Given the description of an element on the screen output the (x, y) to click on. 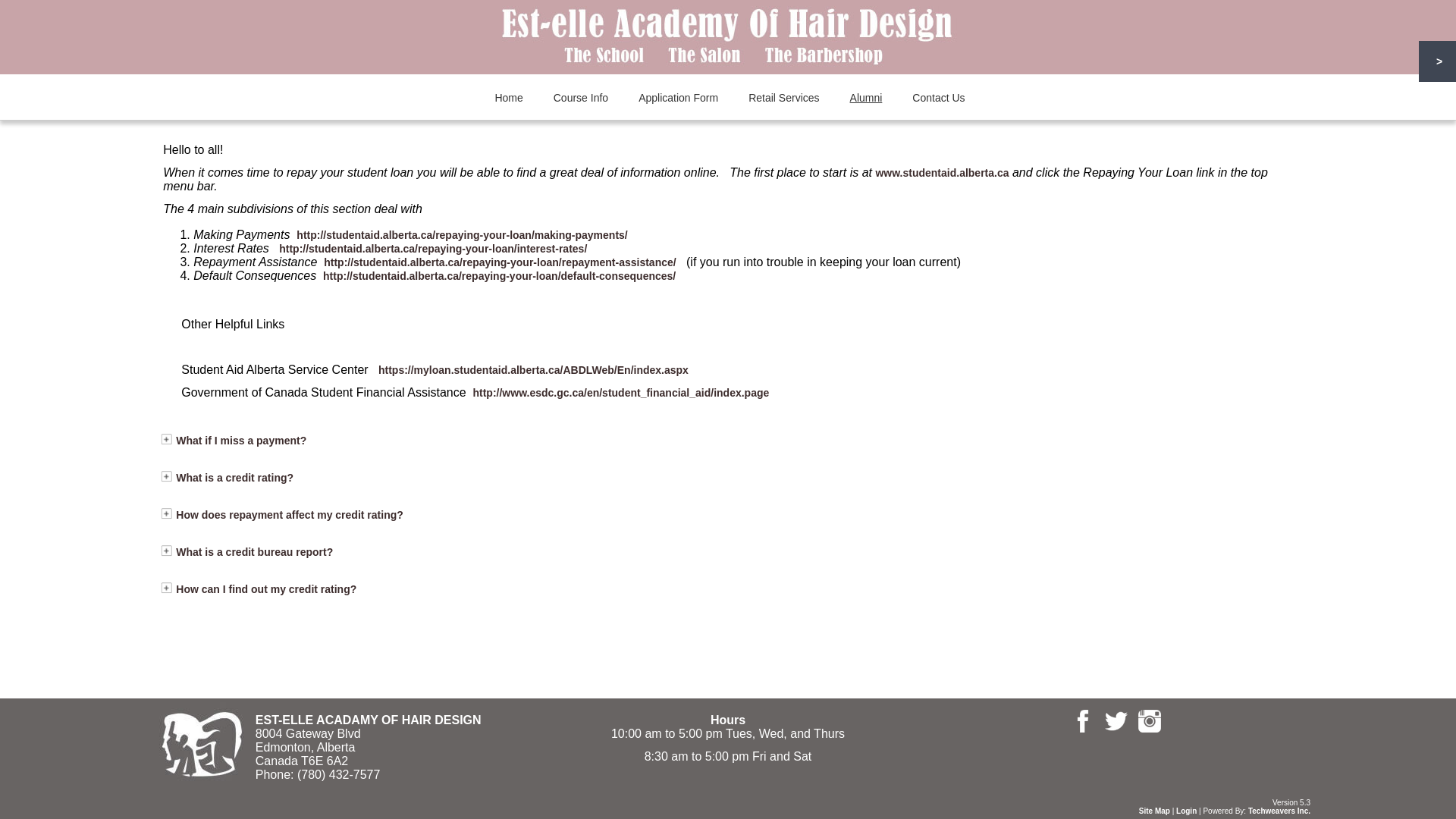
Contact Us Element type: text (938, 97)
Site Map Element type: text (1154, 810)
http://www.esdc.gc.ca/en/student_financial_aid/index.page Element type: text (620, 392)
Retail Services Element type: text (783, 97)
https://myloan.studentaid.alberta.ca/ABDLWeb/En/index.aspx Element type: text (533, 370)
Course Info Element type: text (580, 97)
Home Element type: text (508, 97)
Login Element type: text (1186, 810)
How can I find out my credit rating? Element type: text (265, 589)
Techweavers Inc. Element type: text (1279, 810)
www.studentaid.alberta.ca Element type: text (941, 172)
How does repayment affect my credit rating? Element type: text (289, 514)
What is a credit bureau report? Element type: text (253, 552)
What is a credit rating? Element type: text (234, 477)
Application Form Element type: text (678, 97)
What if I miss a payment? Element type: text (240, 440)
Alumni Element type: text (865, 97)
